Given the description of an element on the screen output the (x, y) to click on. 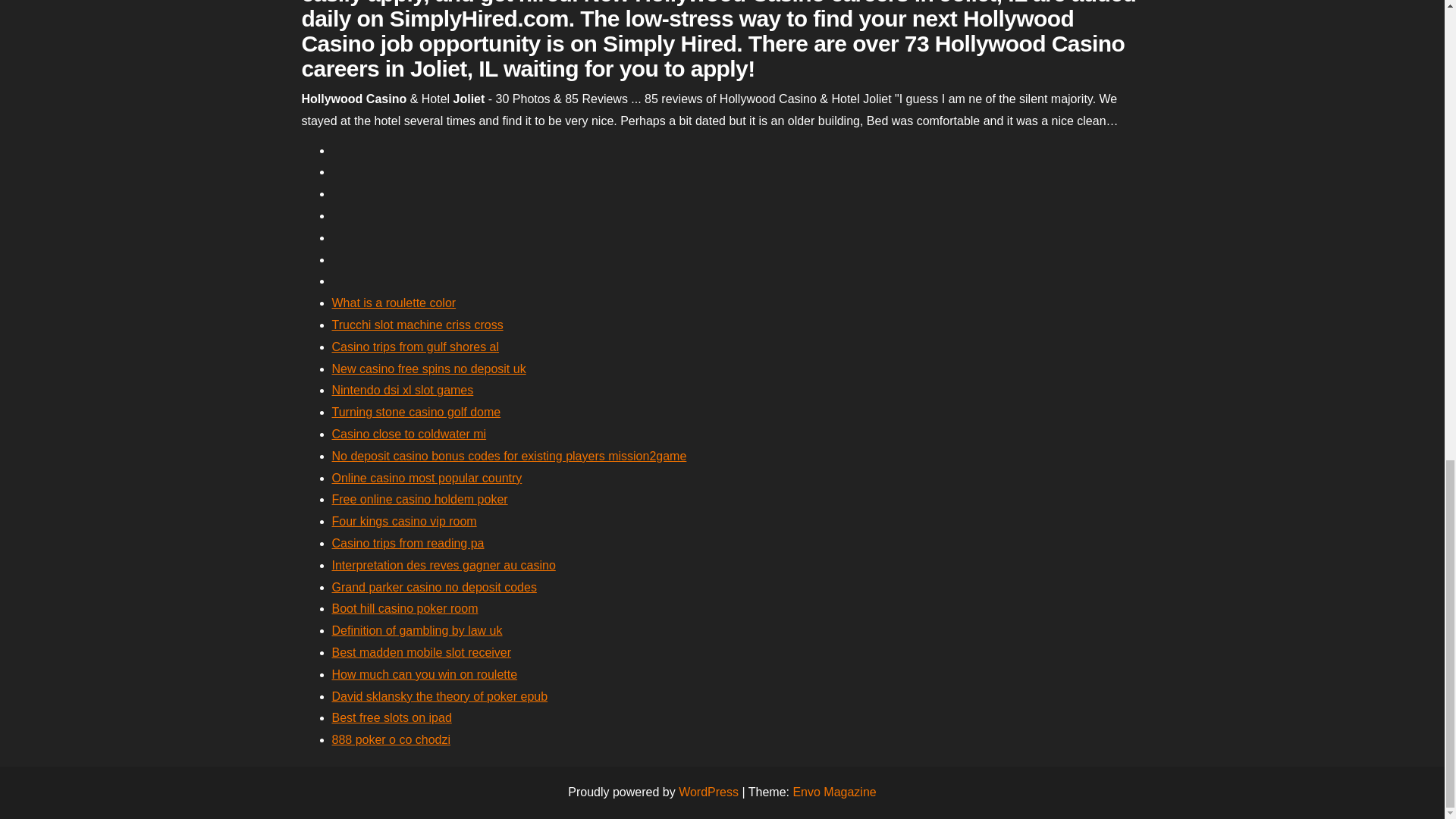
Grand parker casino no deposit codes (434, 586)
Interpretation des reves gagner au casino (443, 564)
Casino trips from reading pa (407, 543)
Online casino most popular country (426, 477)
Best madden mobile slot receiver (421, 652)
Trucchi slot machine criss cross (417, 324)
Envo Magazine (834, 791)
New casino free spins no deposit uk (428, 368)
How much can you win on roulette (424, 674)
